Given the description of an element on the screen output the (x, y) to click on. 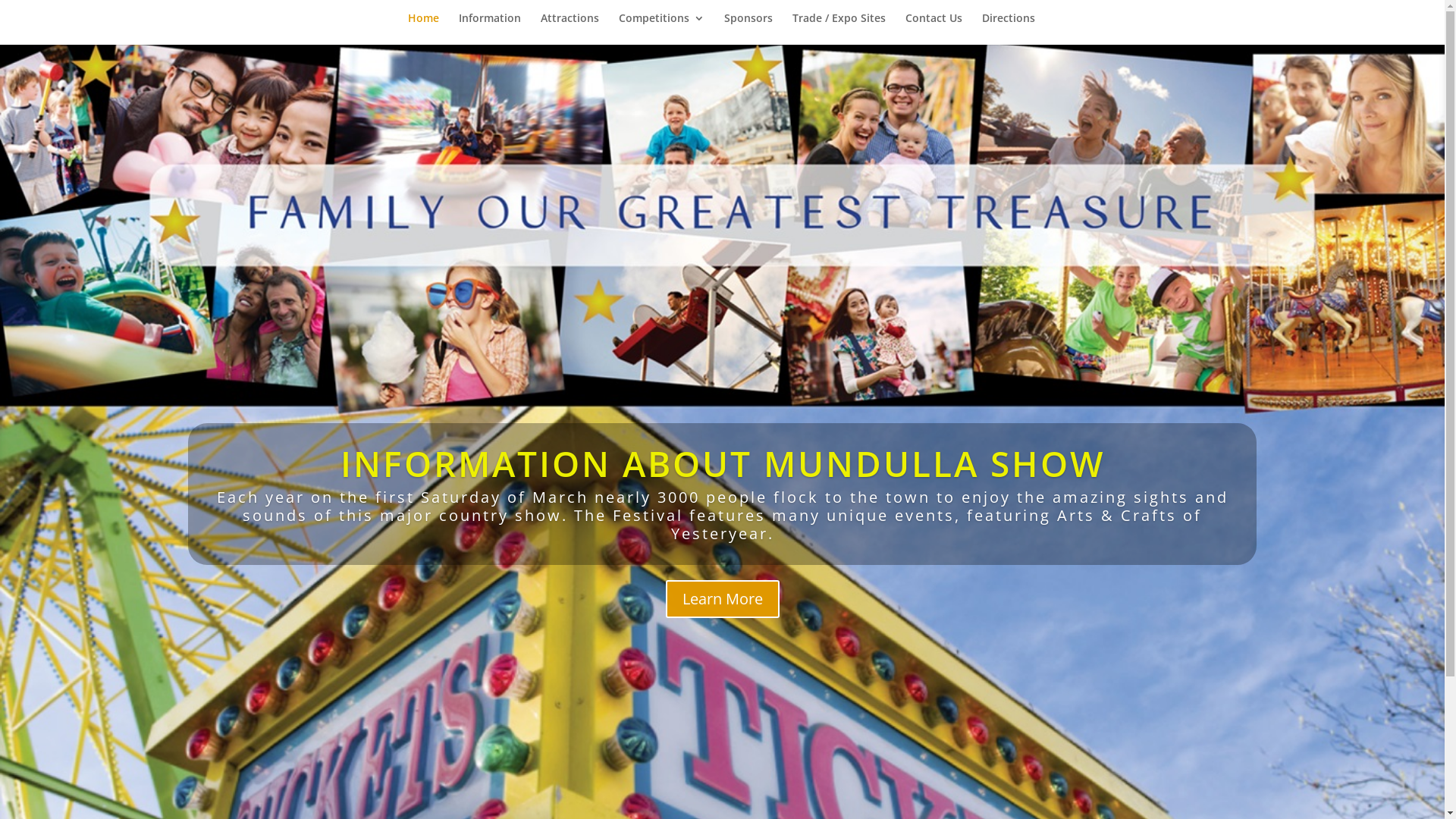
Contact Us Element type: text (933, 28)
Sponsors Element type: text (748, 28)
Information Element type: text (489, 28)
Trade / Expo Sites Element type: text (838, 28)
Learn More Element type: text (722, 599)
Attractions Element type: text (569, 28)
INFORMATION ABOUT MUNDULLA SHOW Element type: text (721, 462)
Competitions Element type: text (661, 28)
Directions Element type: text (1008, 28)
Home Element type: text (423, 28)
